Given the description of an element on the screen output the (x, y) to click on. 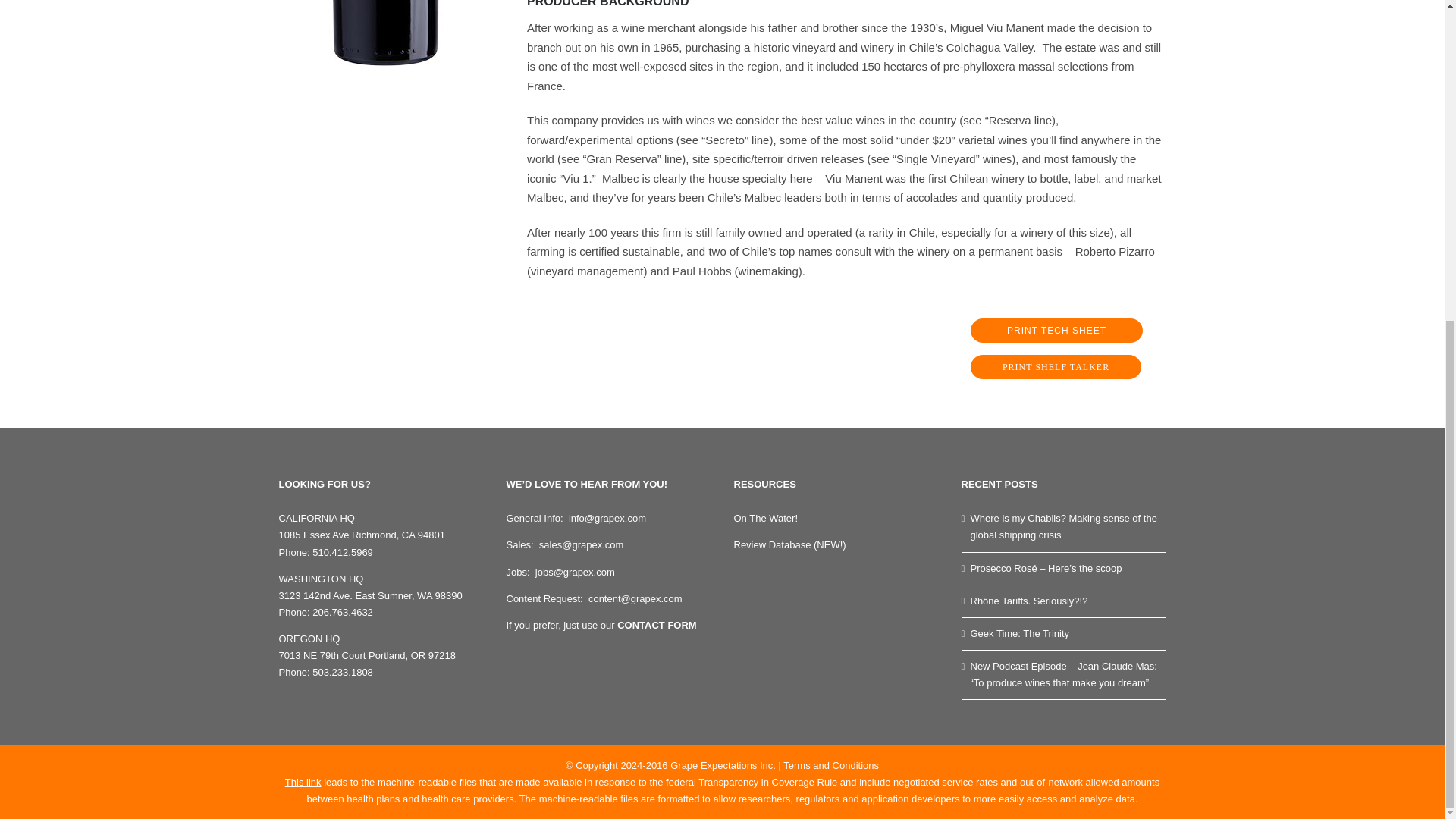
PRINT TECH SHEET (1056, 330)
Geek Time: The Trinity (1064, 633)
CONTACT FORM (656, 624)
On The Water! (722, 348)
PRINT SHELF TALKER (765, 518)
